Given the description of an element on the screen output the (x, y) to click on. 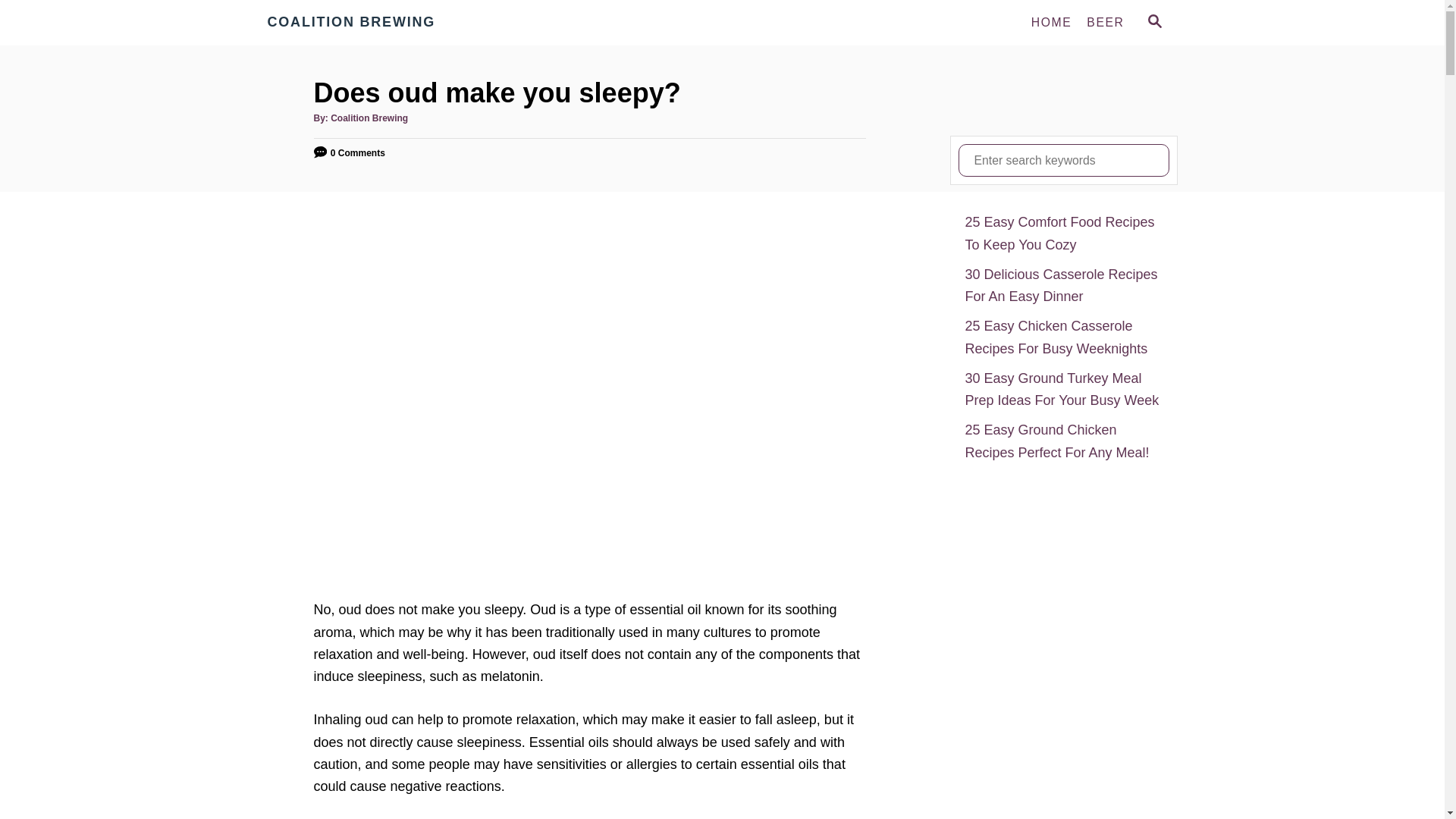
SEARCH (1153, 22)
25 Easy Chicken Casserole Recipes For Busy Weeknights (1062, 337)
25 Easy Ground Chicken Recipes Perfect For Any Meal! (1062, 441)
HOME (1051, 22)
Coalition Brewing (368, 118)
COALITION BREWING (403, 22)
BEER (1104, 22)
Coalition Brewing (403, 22)
Search (22, 22)
30 Easy Ground Turkey Meal Prep Ideas For Your Busy Week (1062, 389)
25 Easy Comfort Food Recipes To Keep You Cozy (1062, 234)
30 Delicious Casserole Recipes For An Easy Dinner (1062, 286)
